Given the description of an element on the screen output the (x, y) to click on. 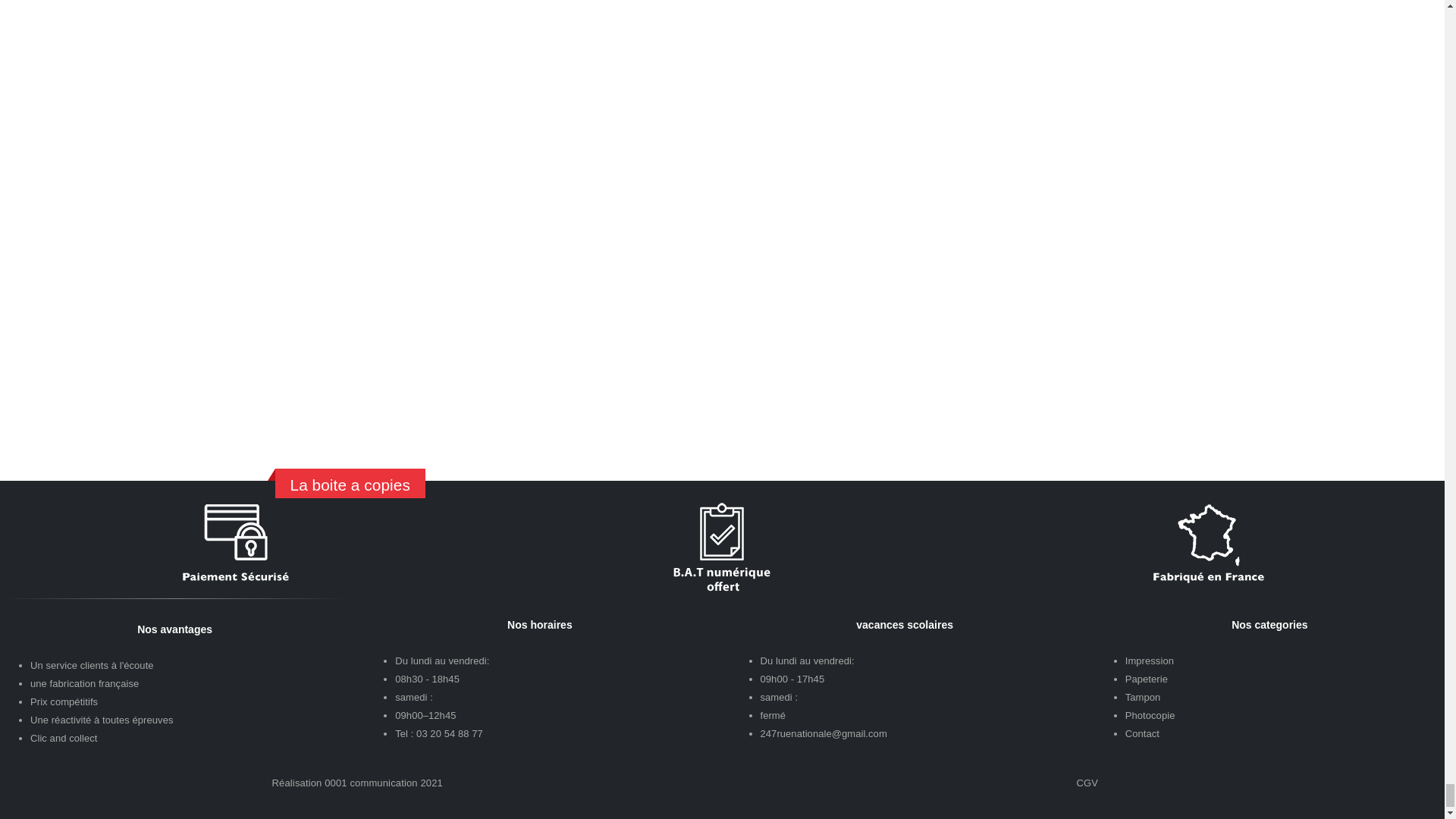
Peiement-secu (235, 544)
bat-numerique (721, 544)
Fabrication-francaise (1208, 544)
